Given the description of an element on the screen output the (x, y) to click on. 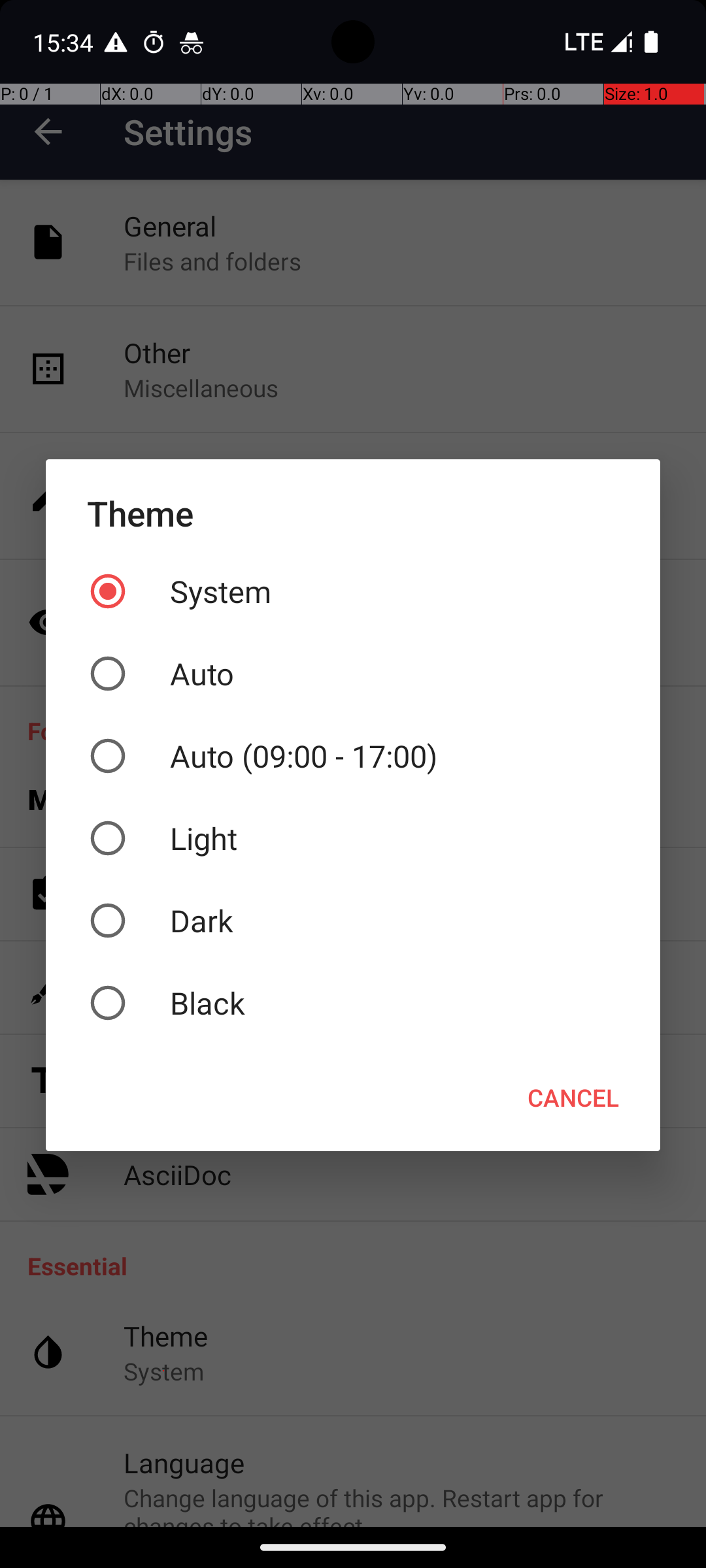
Theme Element type: android.widget.TextView (352, 513)
System Element type: android.widget.CheckedTextView (352, 591)
Auto Element type: android.widget.CheckedTextView (352, 673)
Auto (09:00 - 17:00) Element type: android.widget.CheckedTextView (352, 755)
Light Element type: android.widget.CheckedTextView (352, 838)
Dark Element type: android.widget.CheckedTextView (352, 920)
Black Element type: android.widget.CheckedTextView (352, 1002)
